Given the description of an element on the screen output the (x, y) to click on. 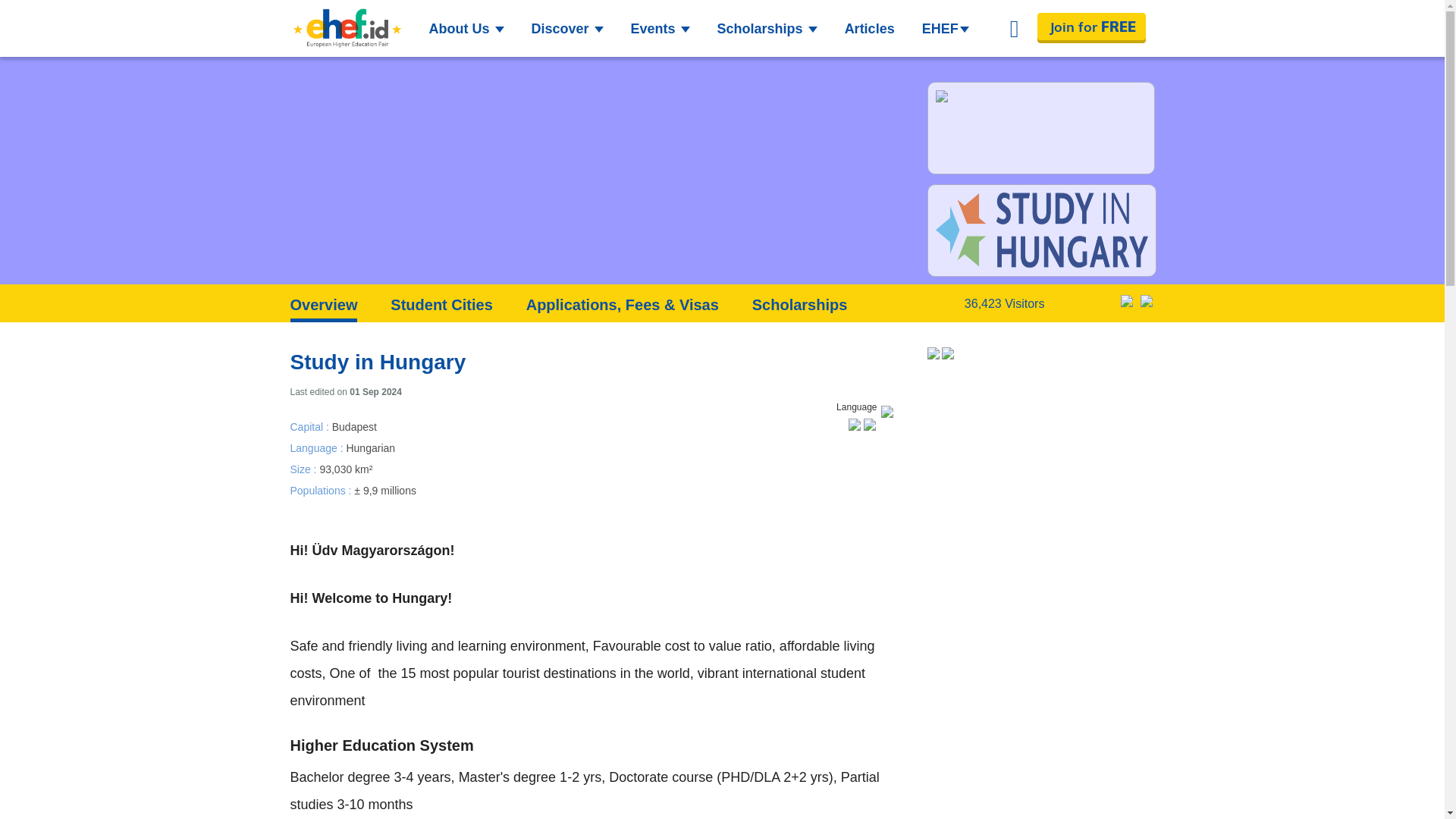
Overview (322, 308)
Scholarships (799, 304)
Articles (869, 28)
Logo ehef.id (346, 27)
Student Cities (441, 304)
Events (660, 28)
EHEF (945, 28)
About Us (467, 28)
Scholarships (767, 28)
Discover (566, 28)
